Given the description of an element on the screen output the (x, y) to click on. 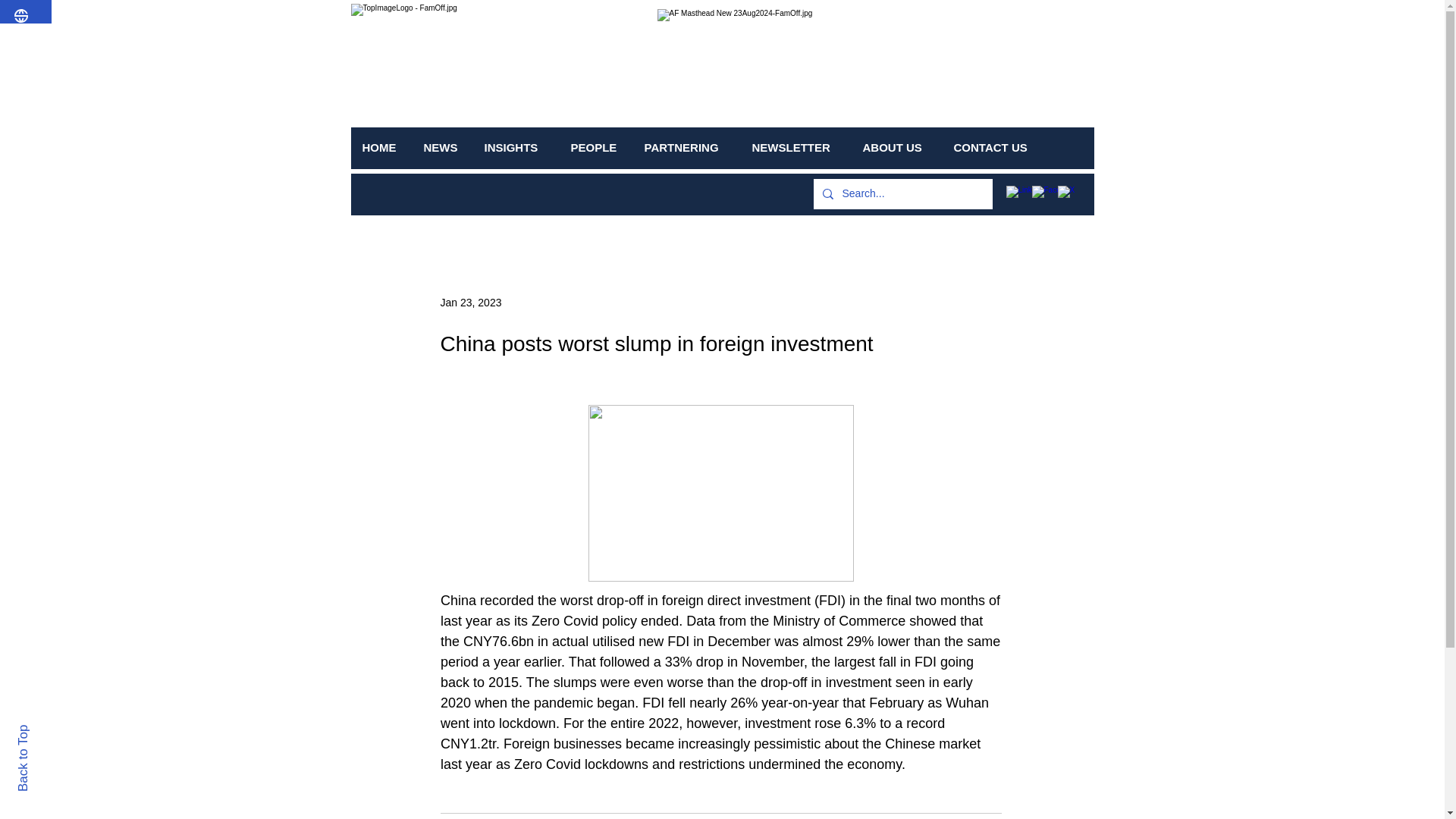
ABOUT US (896, 147)
PARTNERING (685, 147)
INSIGHTS (516, 147)
Jan 23, 2023 (469, 301)
NEWSLETTER (794, 147)
PEOPLE (596, 147)
Back to Top (49, 730)
CONTACT US (995, 147)
TopImageLogo - Masthead.jpg (874, 66)
HOME (381, 147)
